Given the description of an element on the screen output the (x, y) to click on. 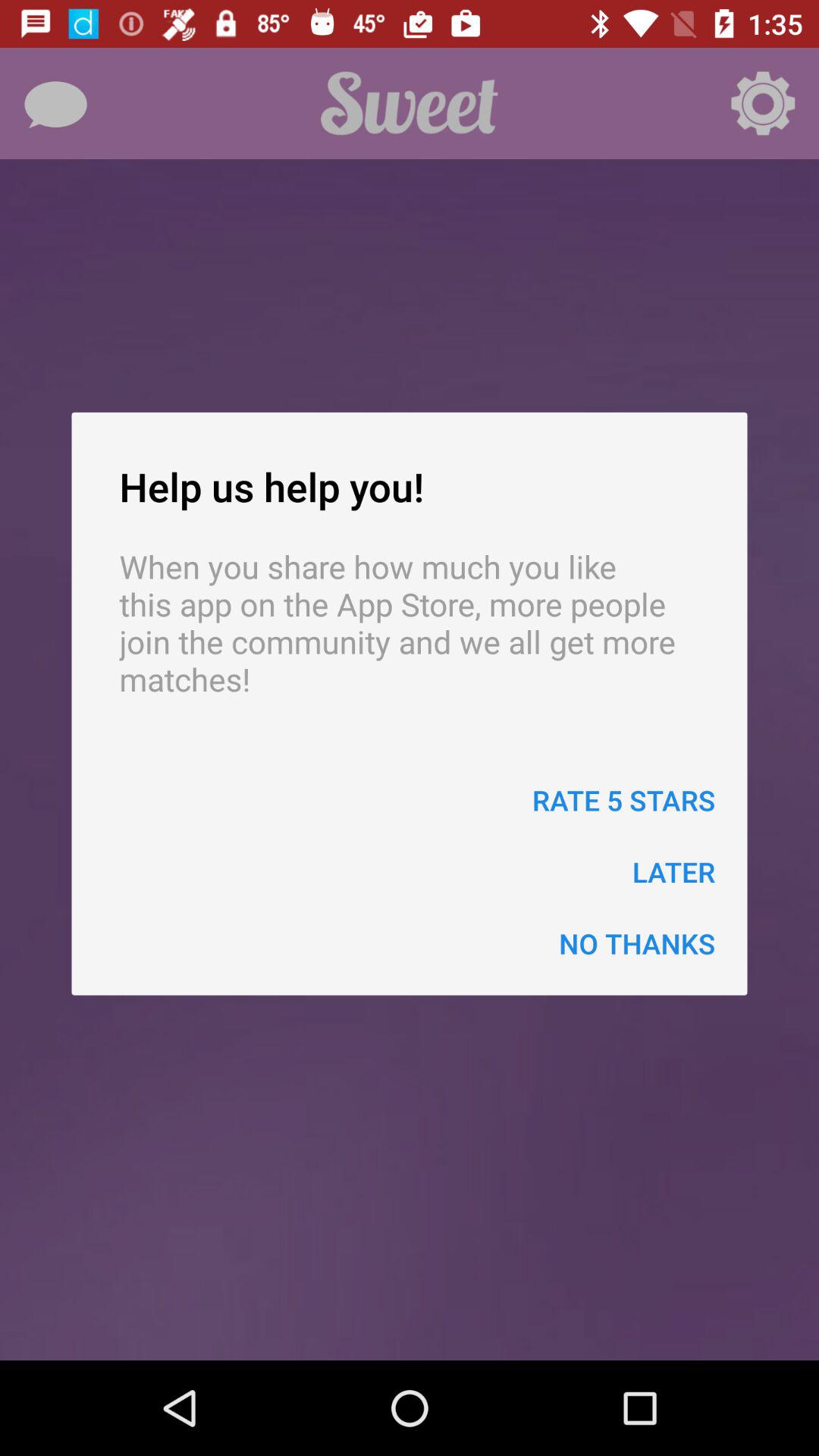
scroll until no thanks (637, 943)
